Given the description of an element on the screen output the (x, y) to click on. 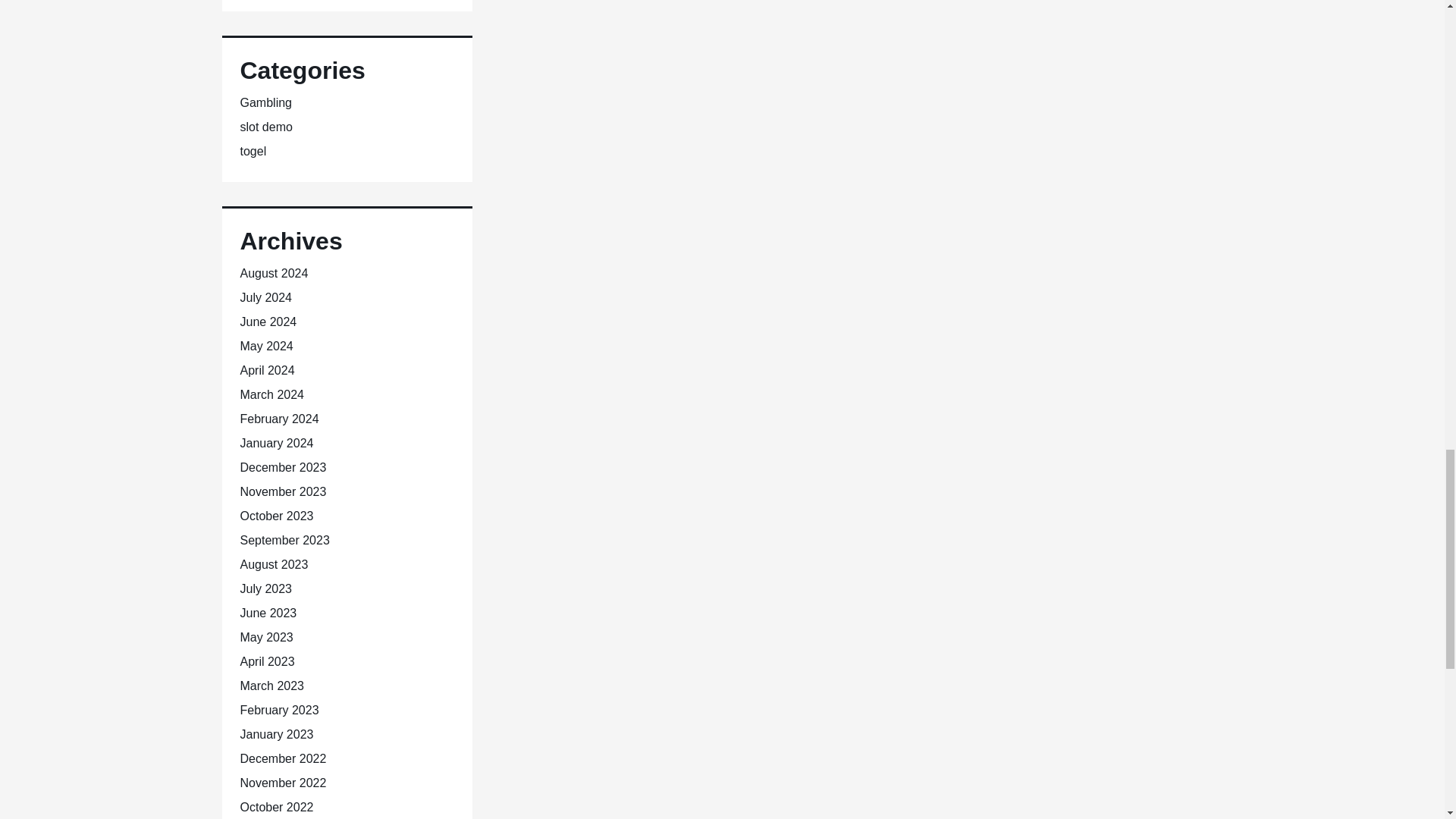
March 2024 (272, 394)
June 2024 (268, 321)
slot demo (266, 126)
December 2023 (283, 467)
January 2024 (276, 442)
February 2024 (279, 418)
togel (253, 151)
Gambling (265, 102)
July 2024 (266, 297)
April 2024 (267, 369)
